Given the description of an element on the screen output the (x, y) to click on. 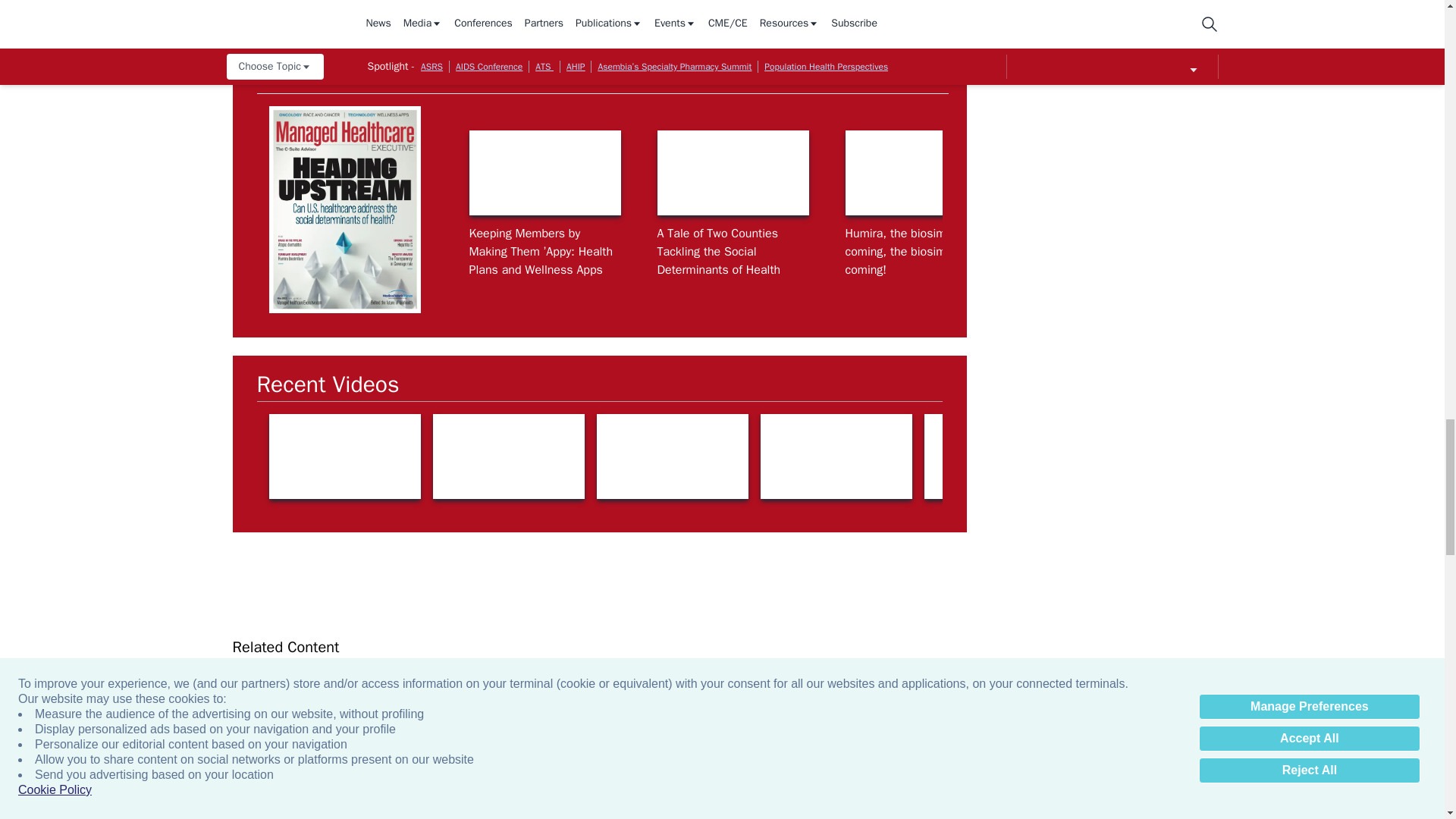
Heading Upstream to the Social Determinants of Health (1297, 173)
